Given the description of an element on the screen output the (x, y) to click on. 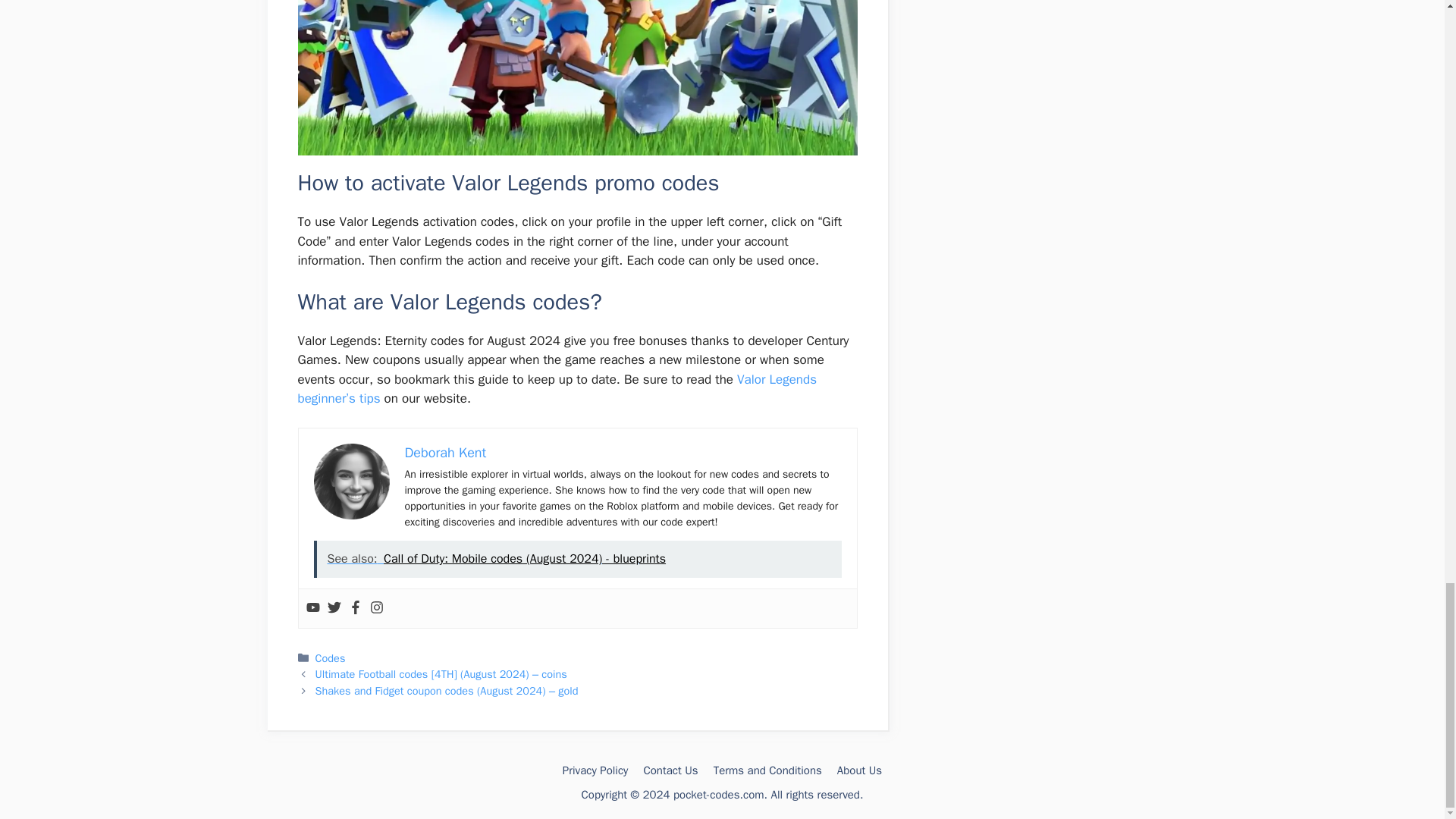
Valor Legend Guide: tips, cheats, and more (556, 389)
About Us (859, 770)
Terms and Conditions (767, 770)
Codes (330, 658)
Privacy Policy (595, 770)
Deborah Kent (445, 452)
Contact Us (670, 770)
